Given the description of an element on the screen output the (x, y) to click on. 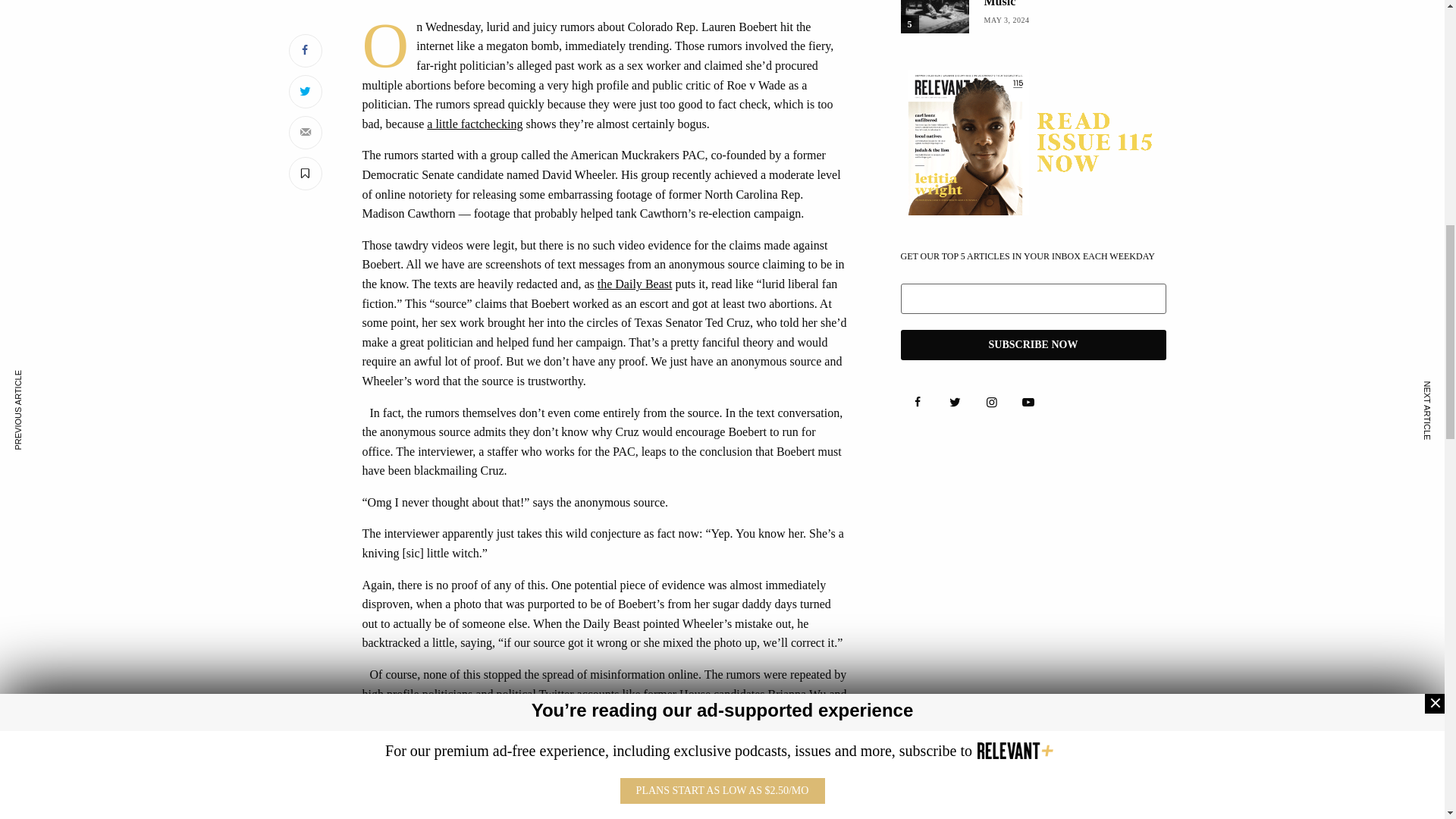
Subscribe Now (1033, 345)
